Given the description of an element on the screen output the (x, y) to click on. 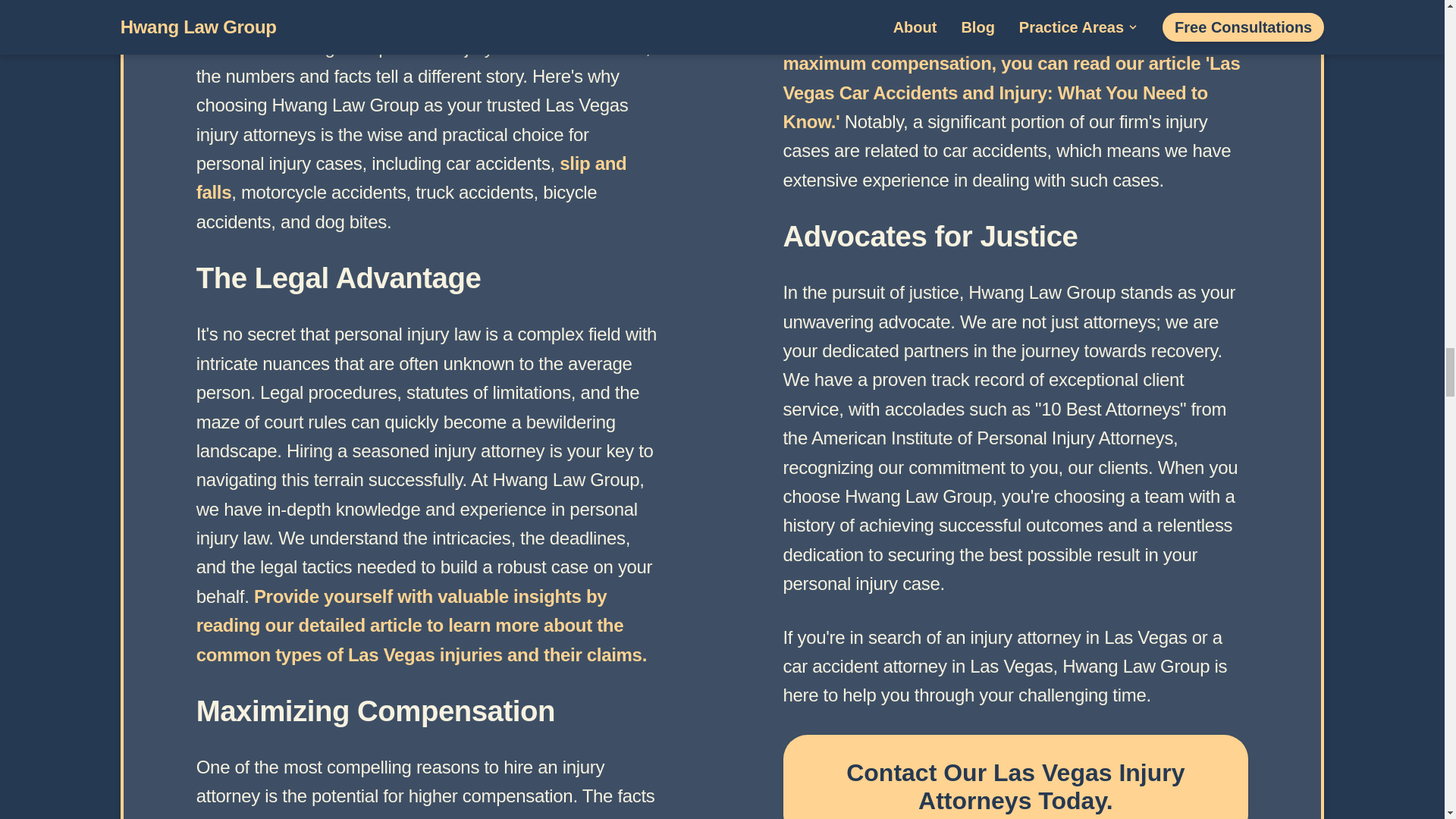
slip and falls (411, 177)
Contact Our Las Vegas Injury Attorneys Today. (1015, 776)
